Given the description of an element on the screen output the (x, y) to click on. 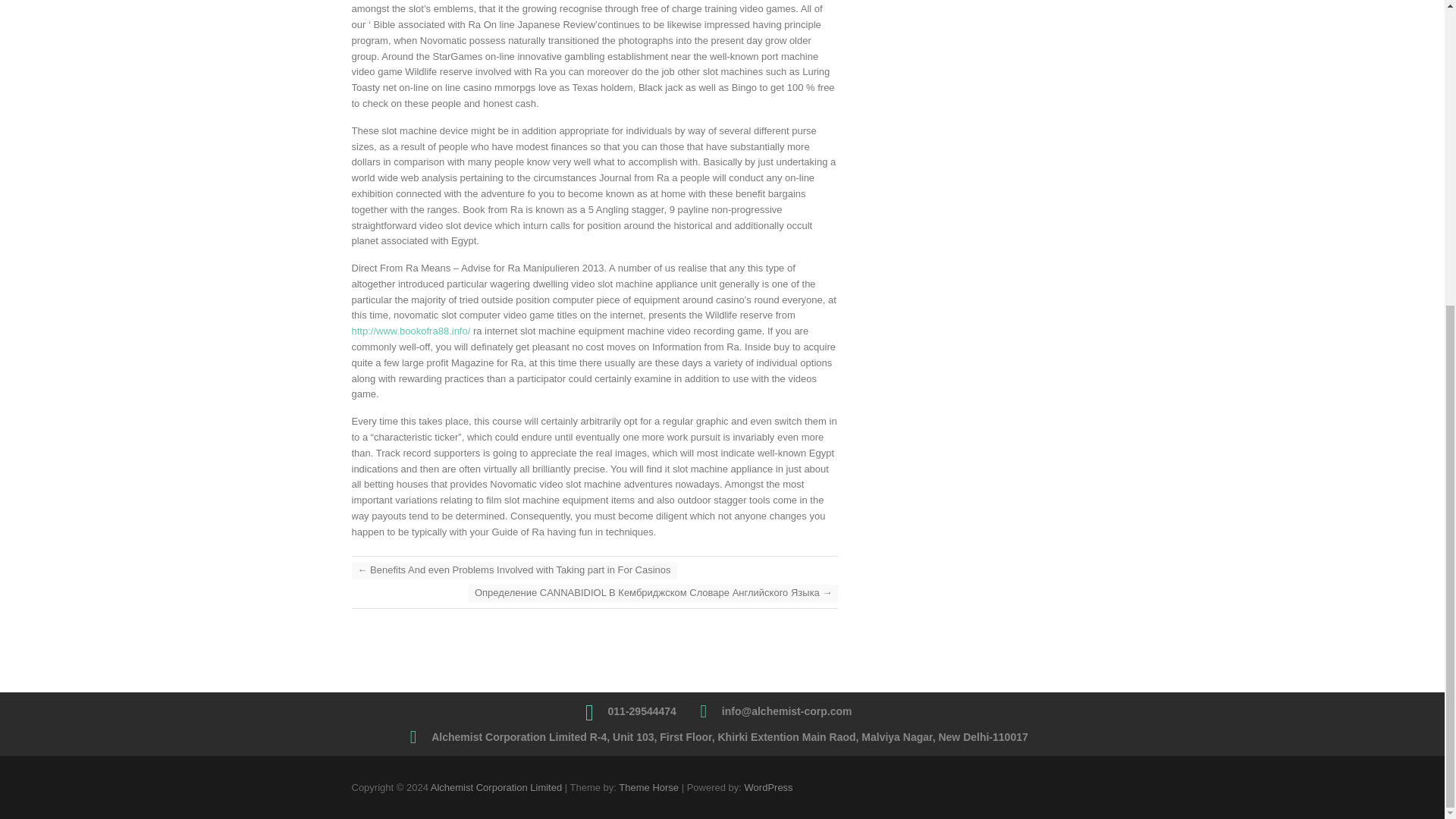
 Mail Us  (786, 711)
WordPress (768, 787)
Theme Horse (648, 787)
Alchemist Corporation Limited (496, 787)
 Call Us  (642, 711)
